Given the description of an element on the screen output the (x, y) to click on. 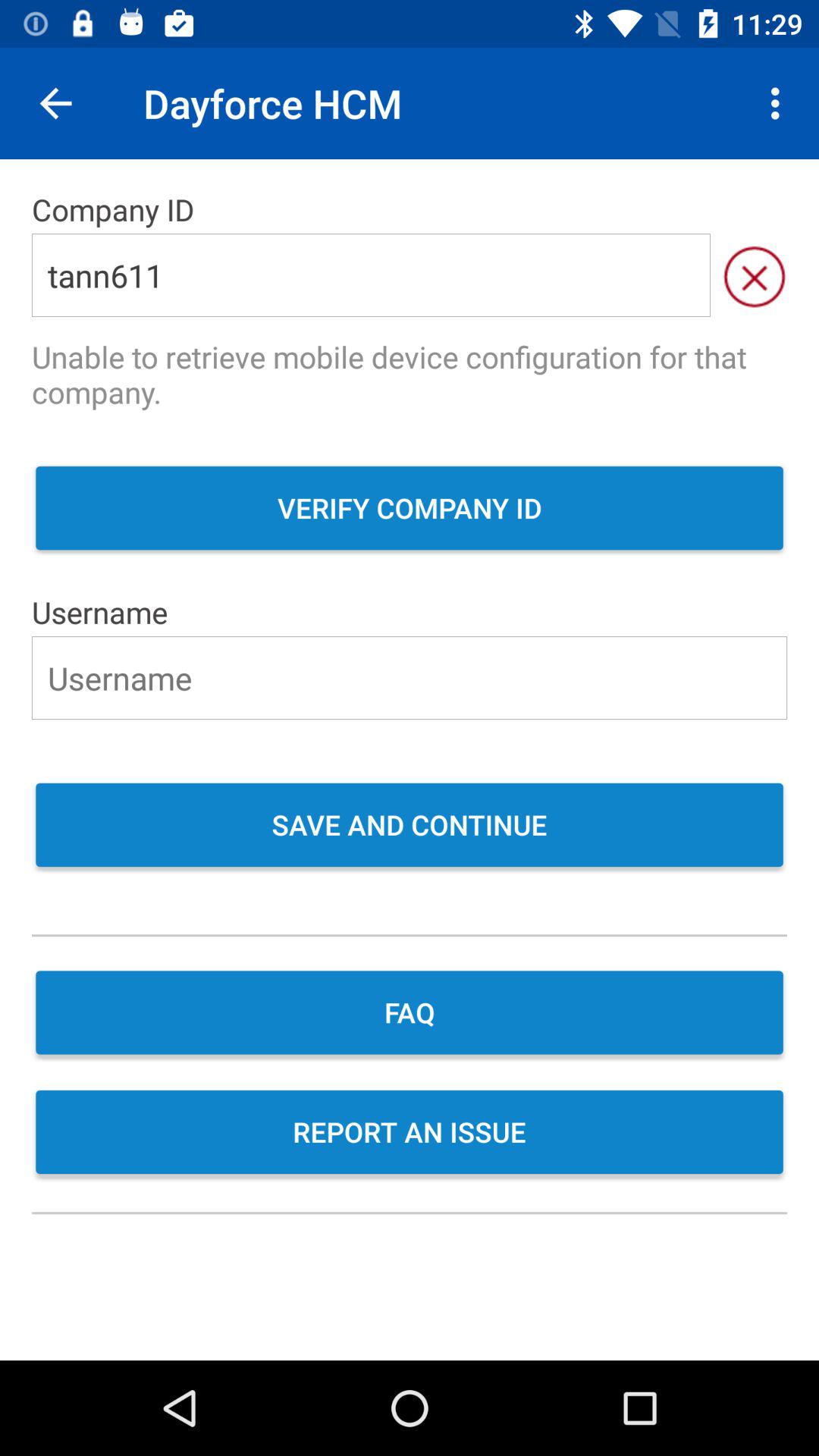
turn off item to the left of the dayforce hcm item (55, 103)
